Given the description of an element on the screen output the (x, y) to click on. 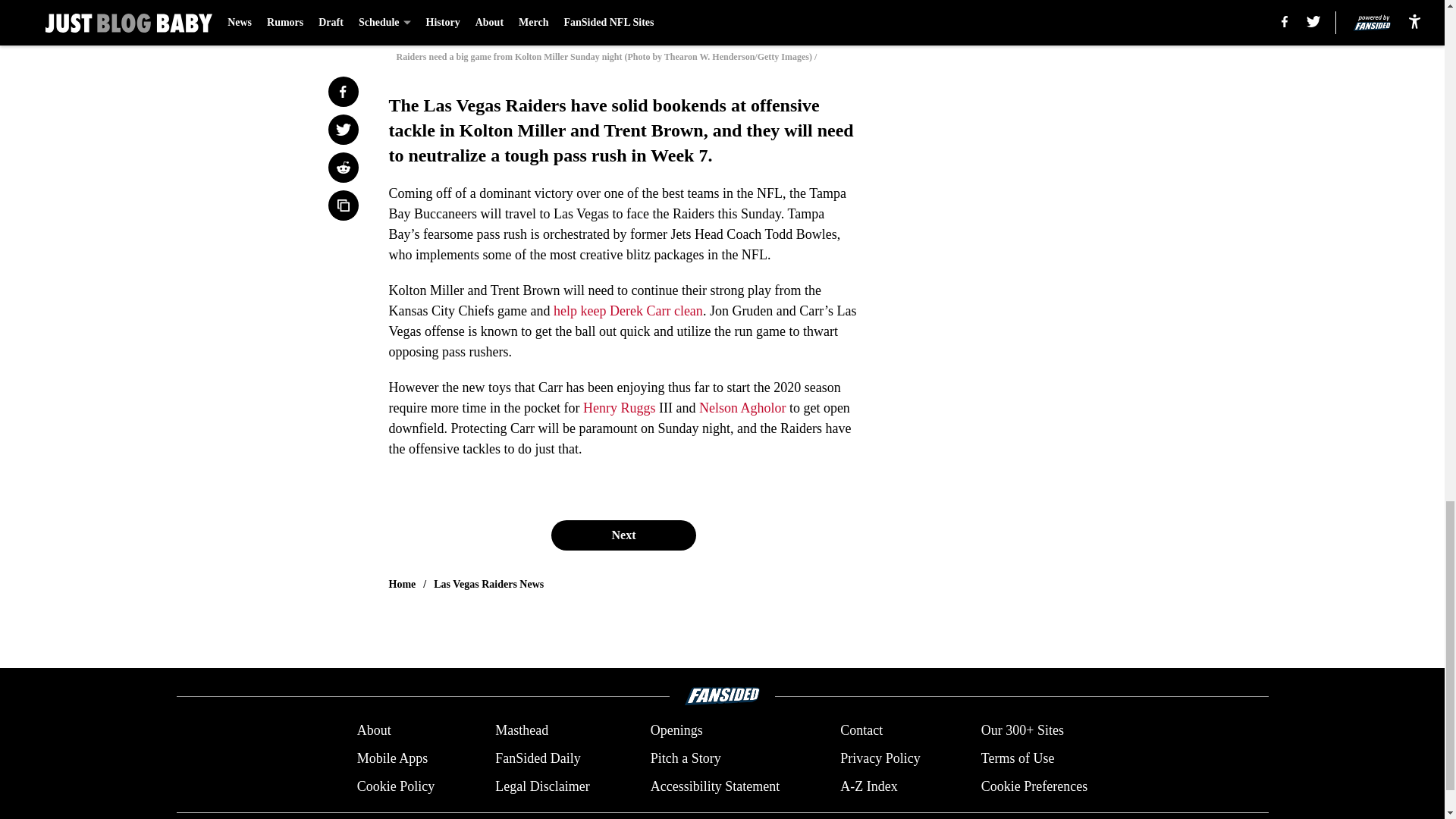
Henry Ruggs (619, 407)
About (373, 730)
Mobile Apps (392, 758)
Openings (676, 730)
Contact (861, 730)
Next (622, 535)
help keep Derek Carr clean (628, 310)
Home (401, 584)
FanSided Daily (537, 758)
Masthead (521, 730)
Nelson Agholor (742, 407)
Las Vegas Raiders News (488, 584)
